Given the description of an element on the screen output the (x, y) to click on. 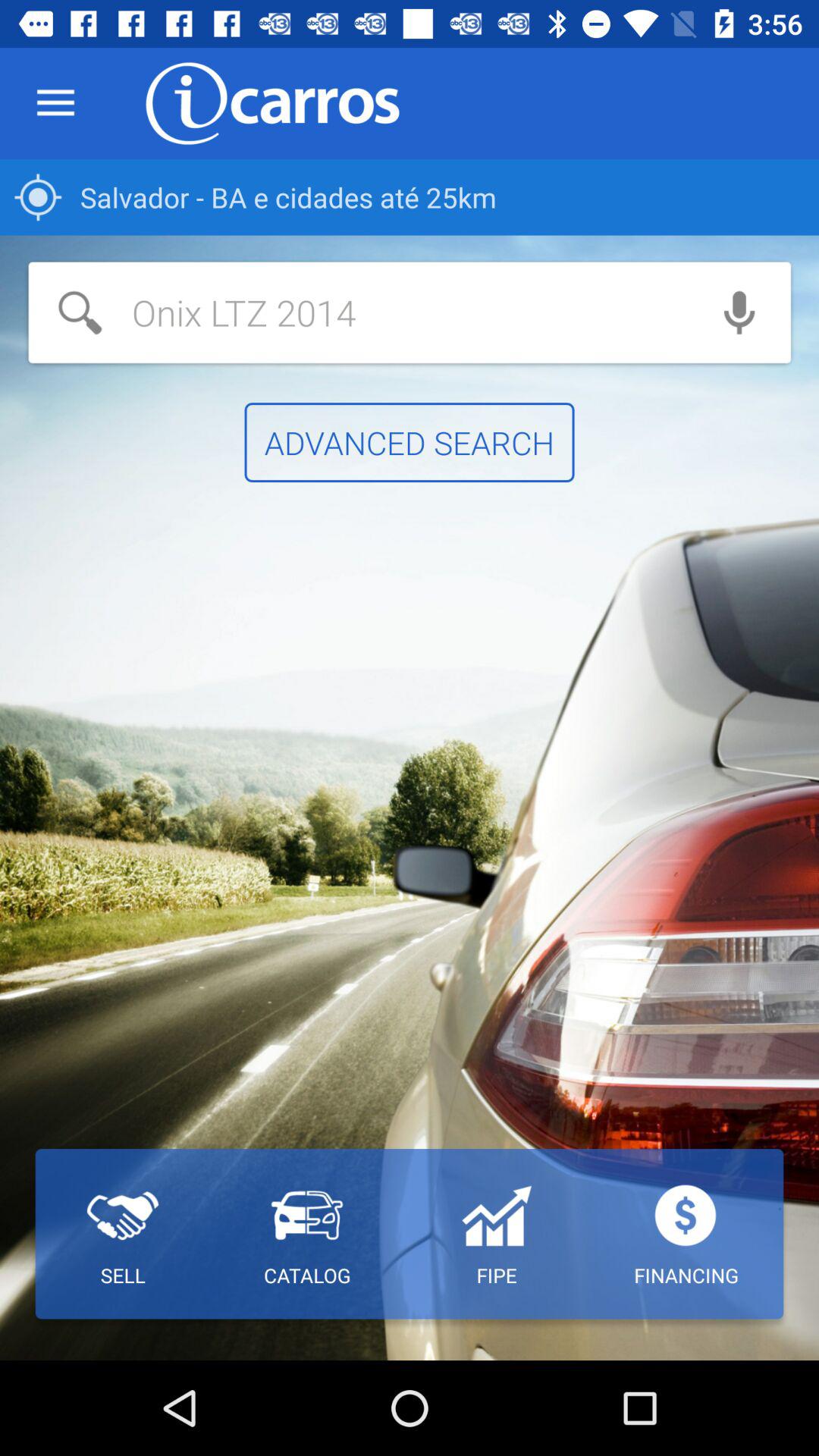
press the item to the right of fipe item (686, 1233)
